Given the description of an element on the screen output the (x, y) to click on. 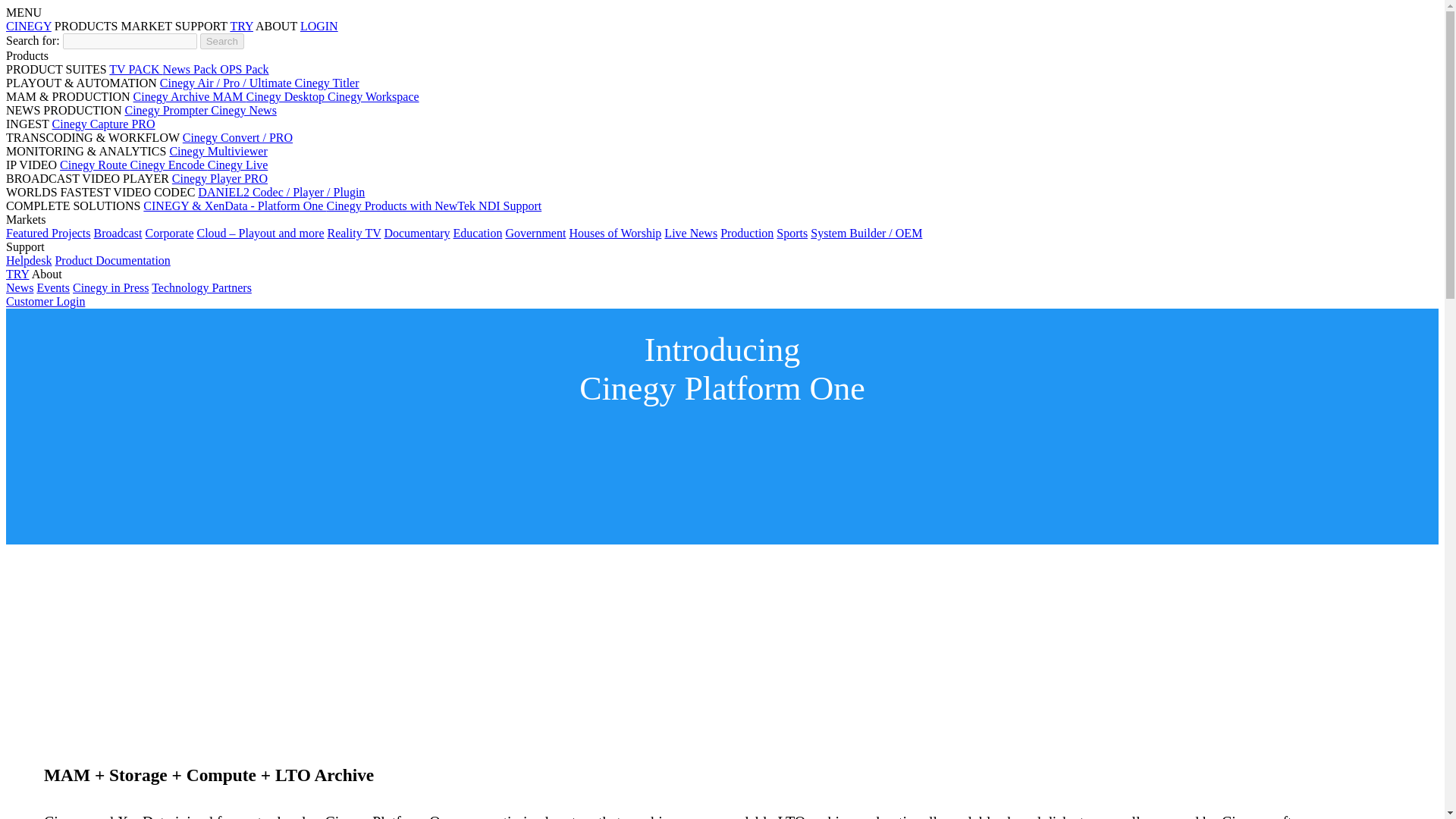
Broadcast (118, 232)
Cinegy Desktop (286, 96)
Cinegy Live (237, 164)
Cinegy Prompter (167, 110)
Cinegy Capture PRO (103, 123)
Sports (792, 232)
Search (222, 41)
Helpdesk (27, 259)
Reality TV (353, 232)
LOGIN (318, 25)
